Given the description of an element on the screen output the (x, y) to click on. 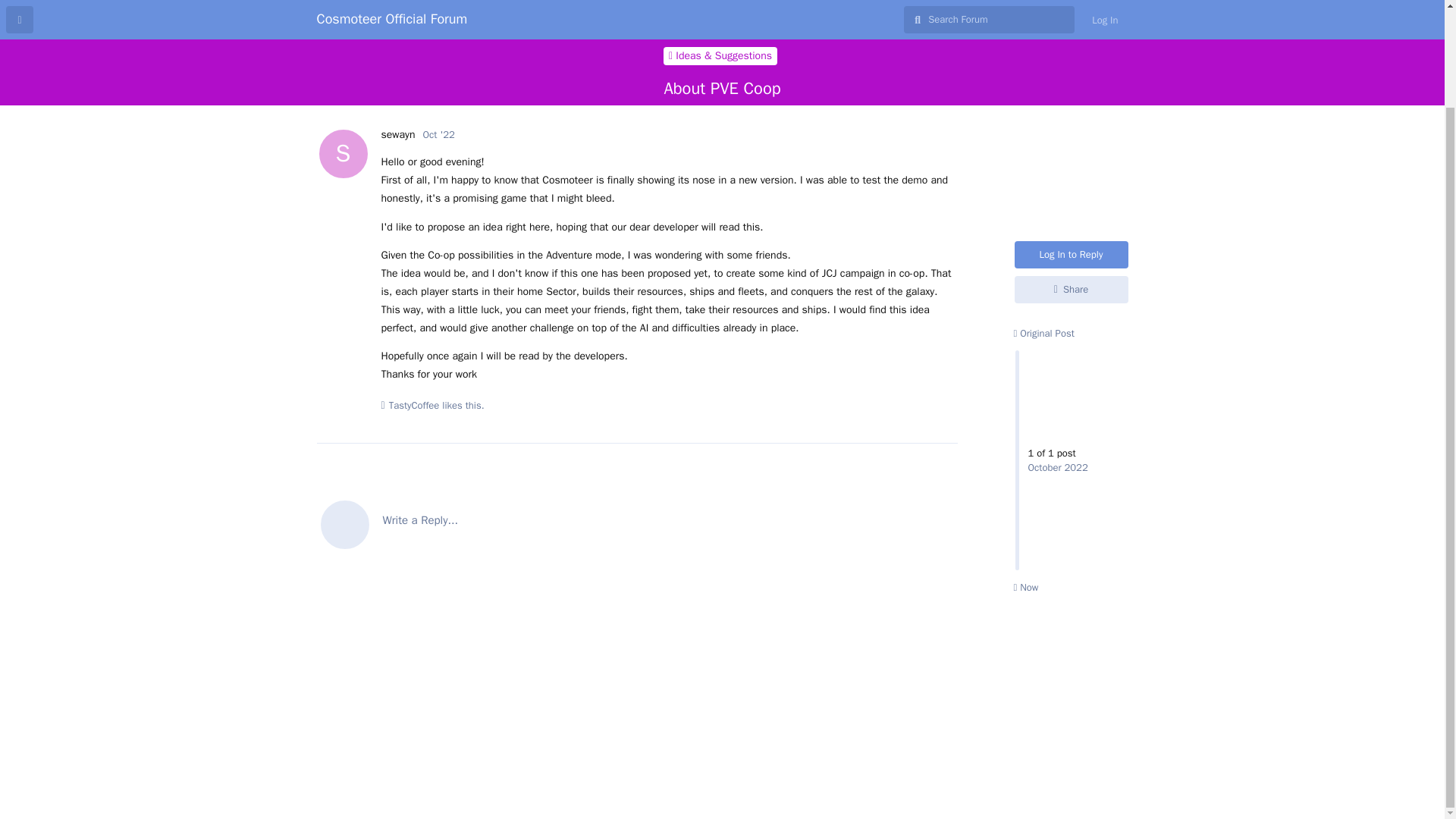
Saturday, October 8, 2022 10:04 AM (438, 133)
TastyCoffee (413, 405)
Log In to Reply (1071, 141)
Oct '22 (438, 133)
Share (1071, 176)
Log In to Reply (1071, 141)
Cosmoteer Official Forum (392, 18)
Share (1071, 176)
Log In (1103, 20)
Log In (1103, 20)
Back to Discussion List (19, 19)
Original Post (1043, 219)
Now (397, 133)
